Given the description of an element on the screen output the (x, y) to click on. 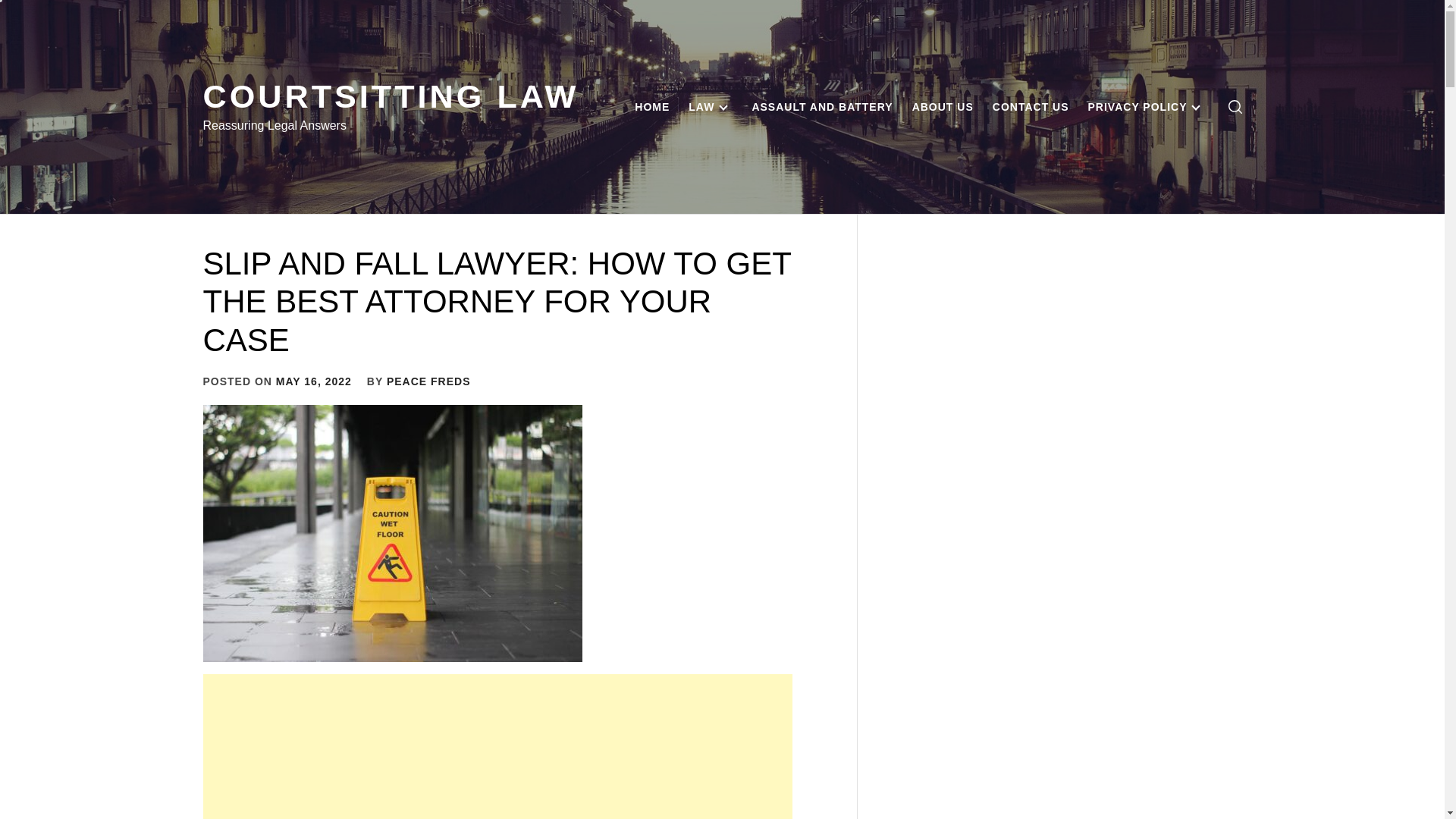
PRIVACY POLICY (1146, 106)
LAW (710, 106)
Search (797, 409)
ASSAULT AND BATTERY (821, 106)
ABOUT US (942, 106)
MAY 16, 2022 (314, 381)
PEACE FREDS (428, 381)
Advertisement (497, 746)
COURTSITTING LAW (391, 95)
HOME (652, 106)
CONTACT US (1031, 106)
